Given the description of an element on the screen output the (x, y) to click on. 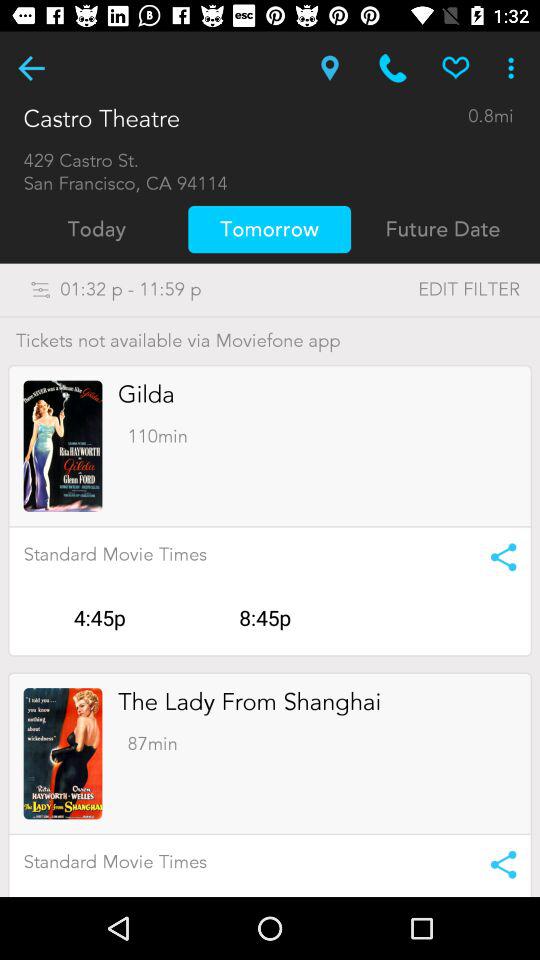
choose item above the 0.8mi (513, 67)
